Given the description of an element on the screen output the (x, y) to click on. 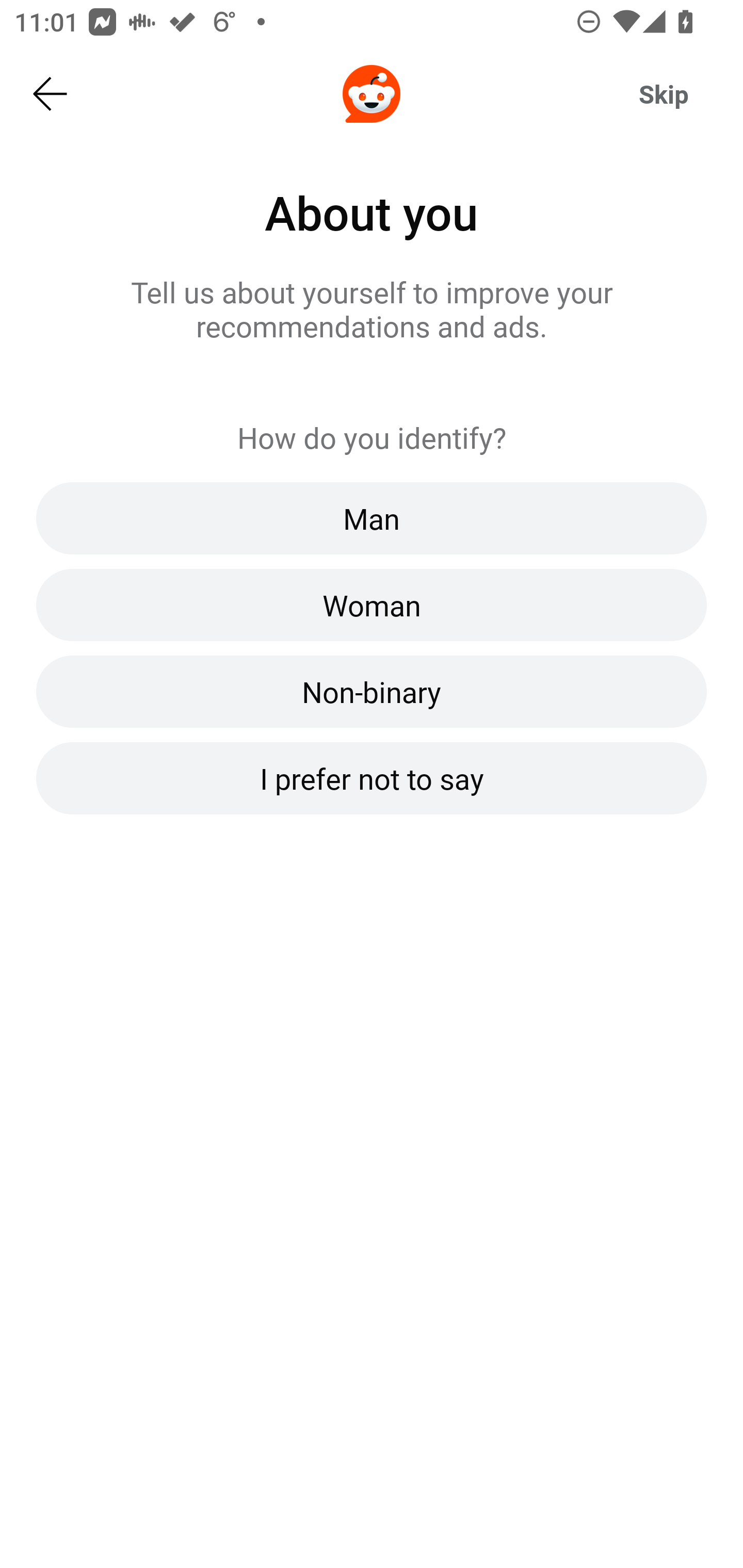
Skip (663, 94)
Man (371, 518)
Woman (371, 605)
Non-binary (371, 691)
I prefer not to say (371, 777)
